Given the description of an element on the screen output the (x, y) to click on. 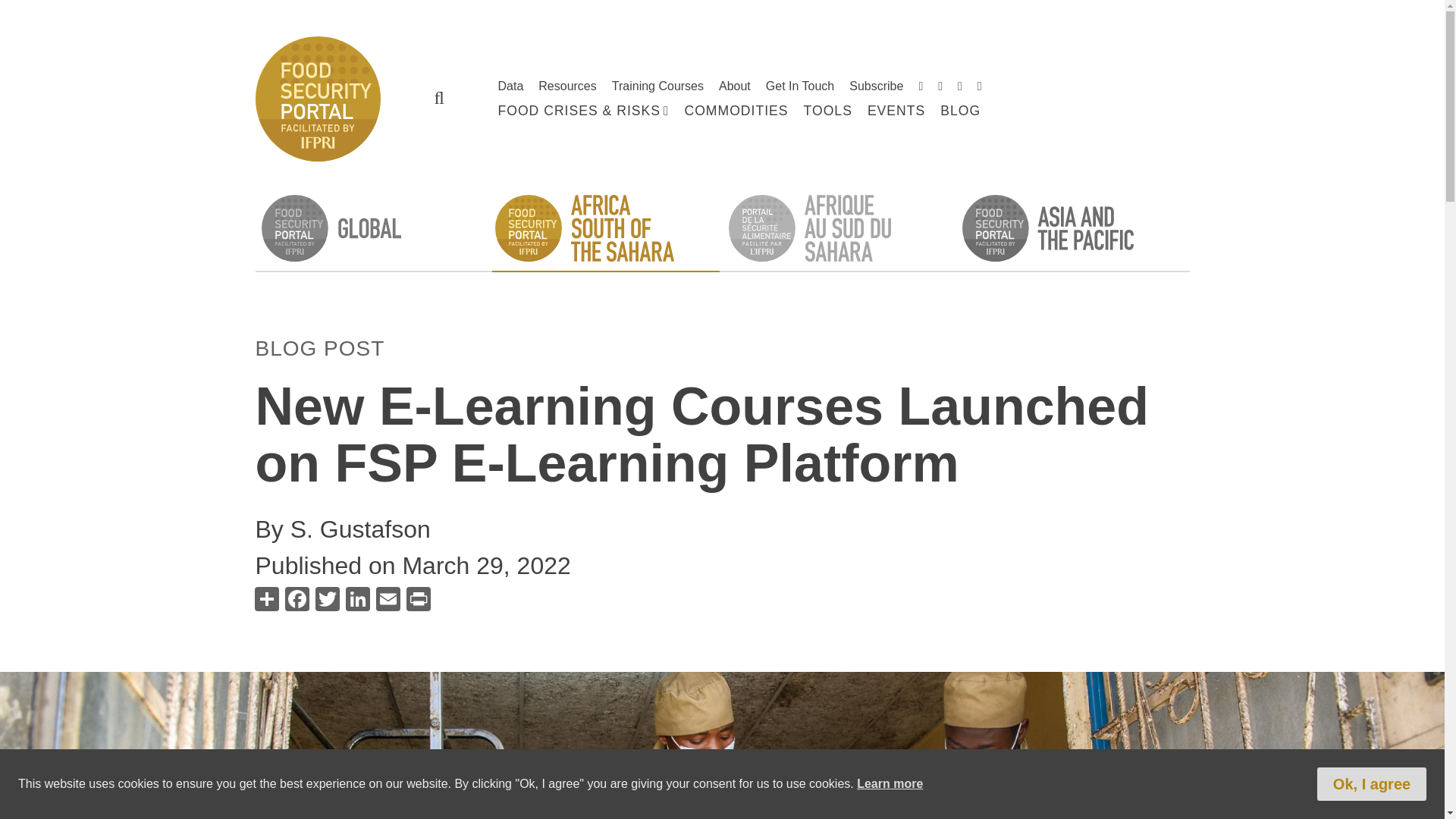
Resources (566, 85)
Data (509, 85)
Food Security Portal (317, 97)
Get In Touch (799, 85)
About (735, 85)
Subscribe (875, 85)
Training Courses (657, 85)
